Given the description of an element on the screen output the (x, y) to click on. 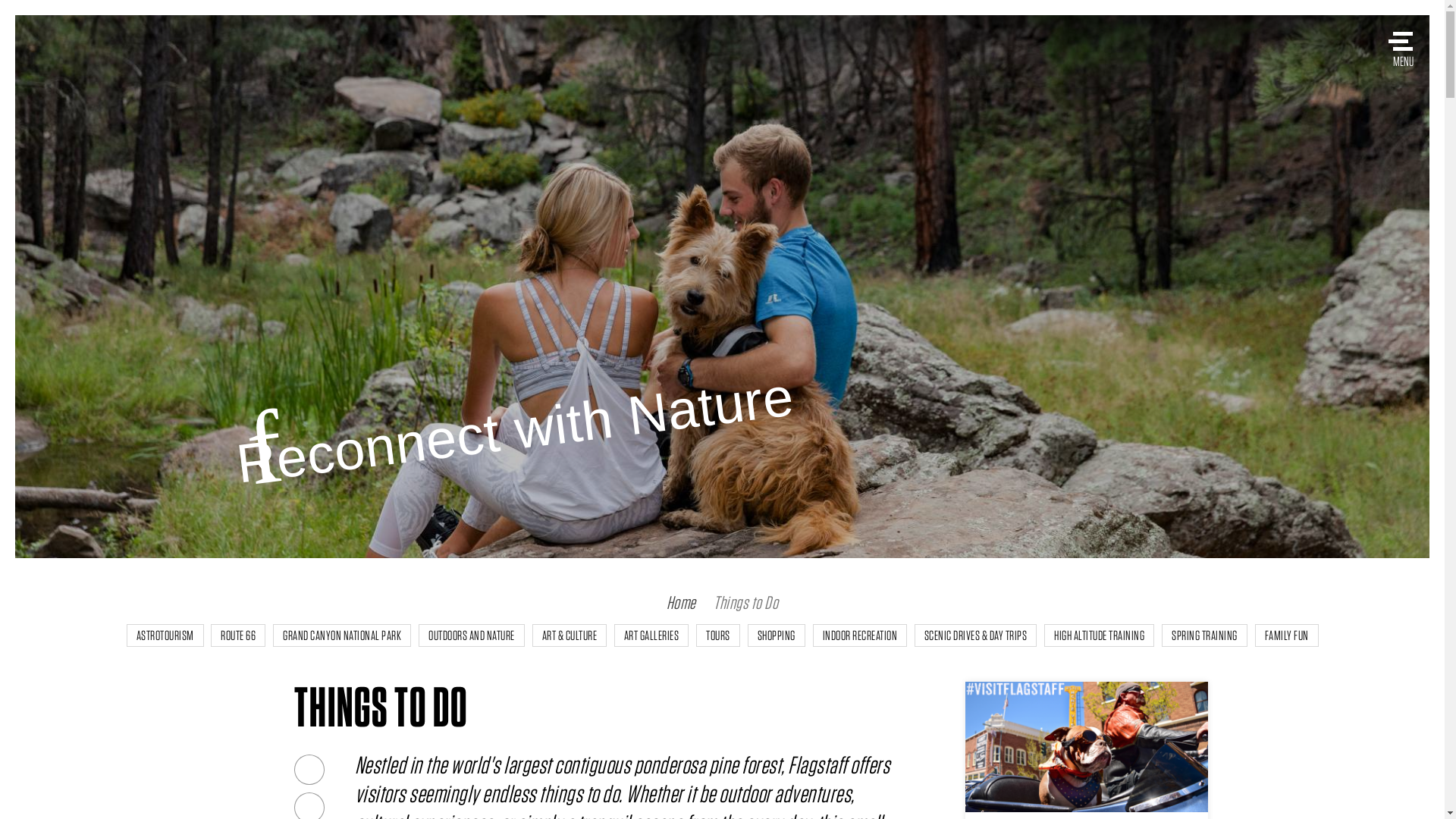
ART GALLERIES (651, 635)
SPRING TRAINING (1203, 635)
GRAND CANYON NATIONAL PARK (341, 635)
GRAND CANYON NATIONAL PARK (341, 635)
SHOPPING (775, 635)
OUTDOORS AND NATURE (471, 635)
TOURS (717, 635)
MENU (1402, 43)
ROUTE 66 (238, 635)
FAMILY FUN (1286, 635)
